Given the description of an element on the screen output the (x, y) to click on. 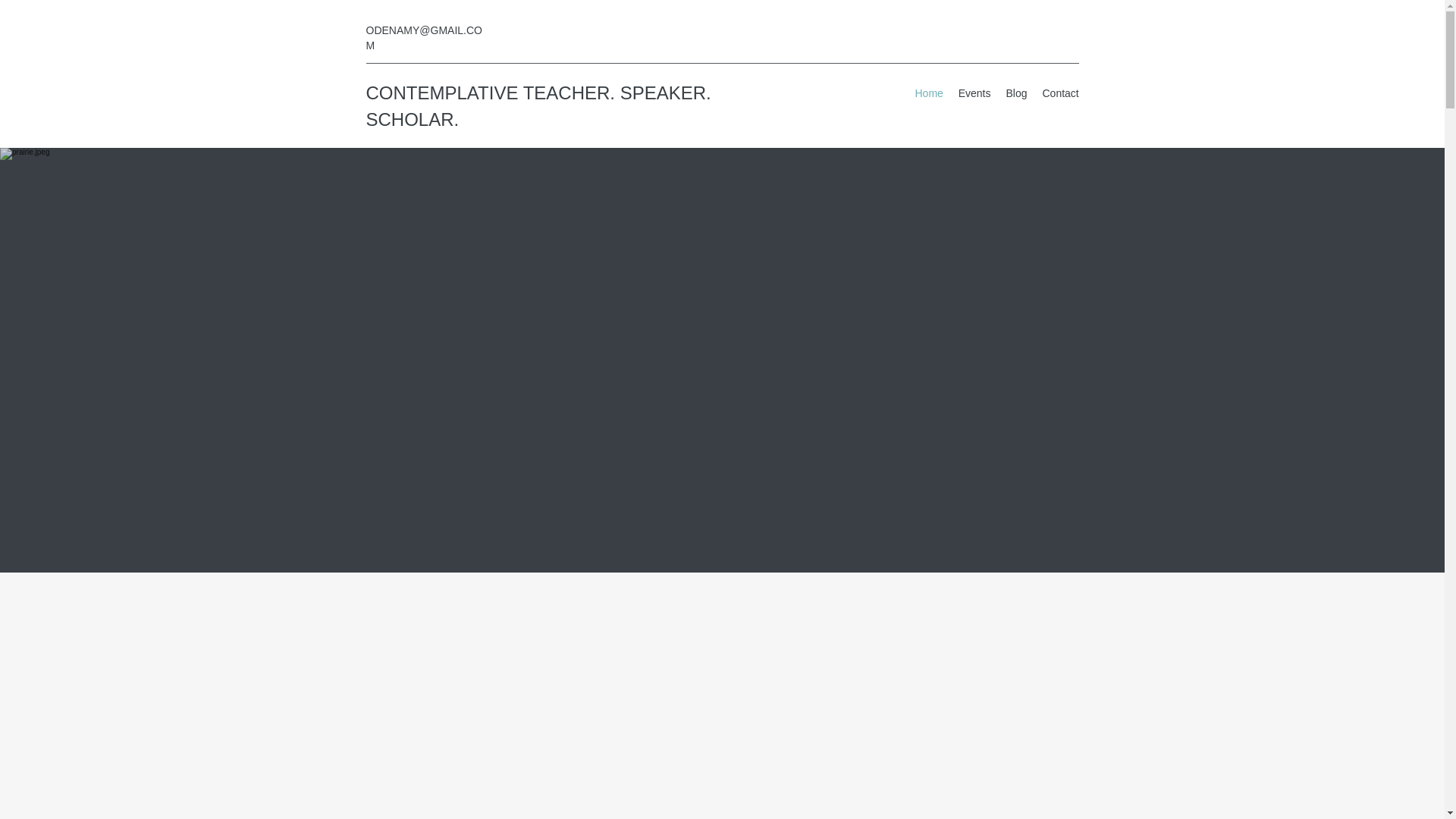
Contact (1059, 92)
Blog (1015, 92)
Events (974, 92)
Home (928, 92)
